Given the description of an element on the screen output the (x, y) to click on. 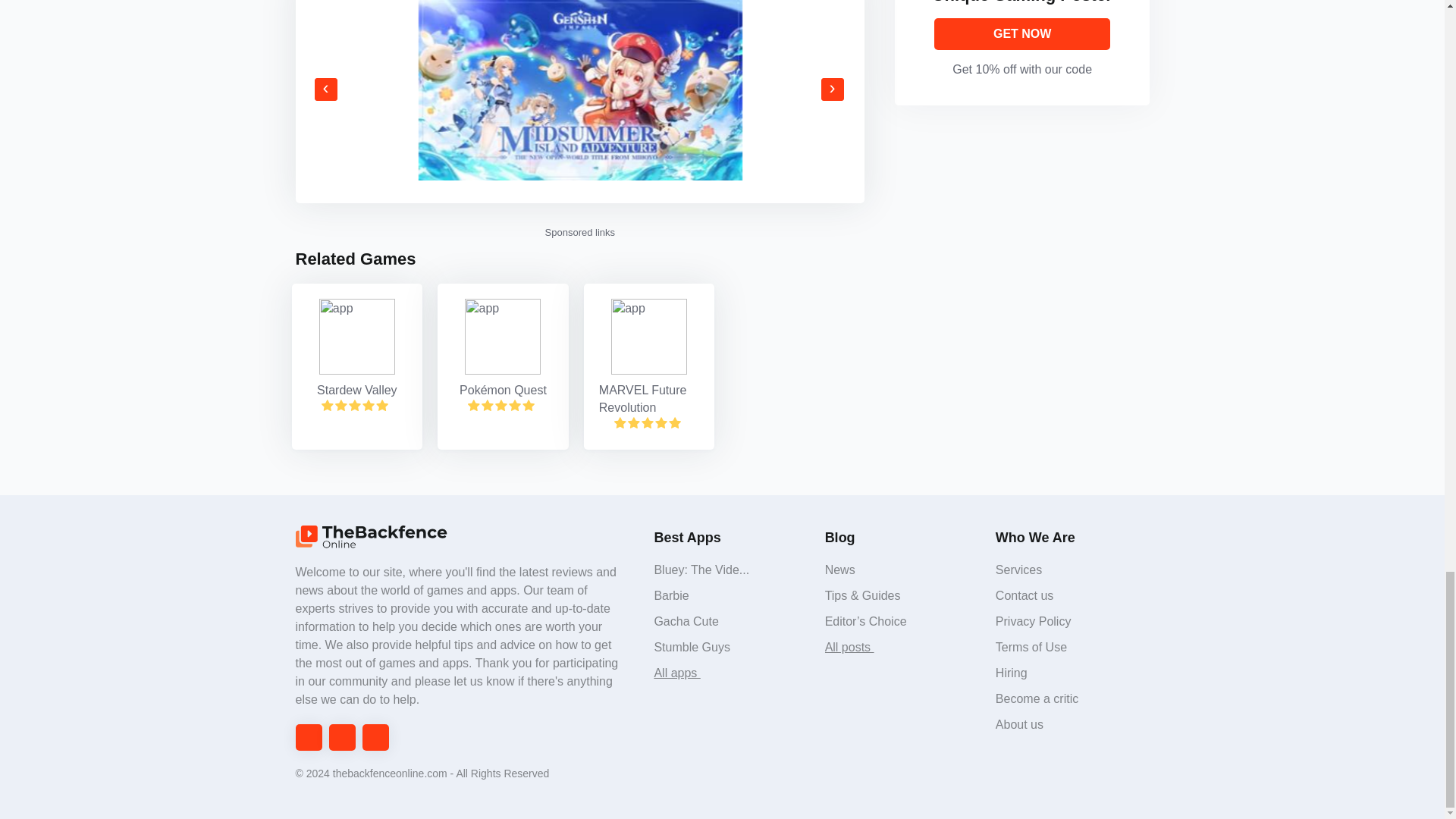
app (502, 336)
app (649, 336)
Currency Converted (356, 390)
Currency Converted (502, 390)
User rating 5 (500, 405)
User rating 5 (647, 422)
User rating 5 (354, 405)
Currency Converted (649, 399)
app (356, 336)
